Given the description of an element on the screen output the (x, y) to click on. 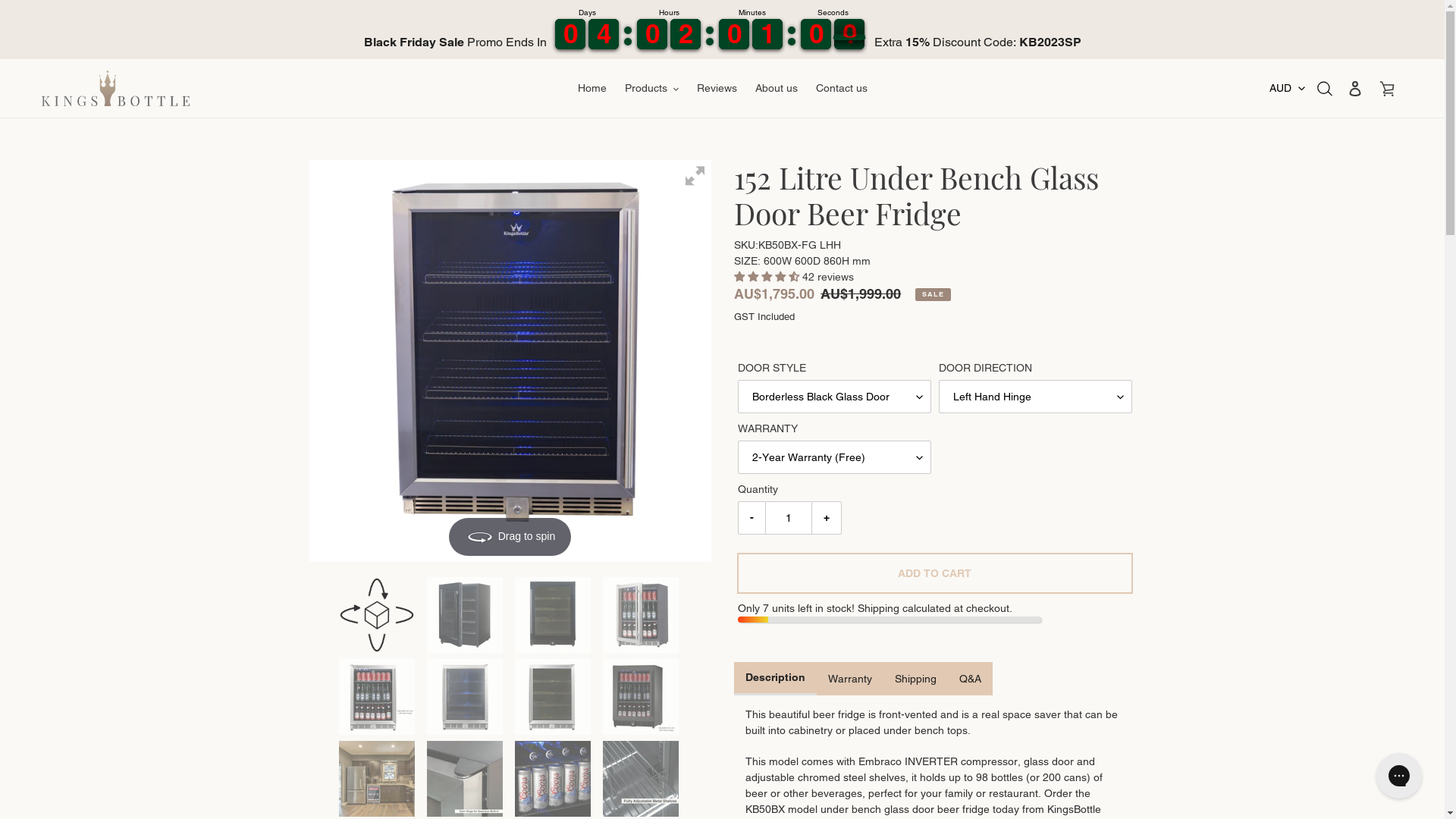
About us Element type: text (776, 88)
9
9 Element type: text (733, 33)
1
1 Element type: text (685, 33)
9
9 Element type: text (570, 33)
Home Element type: text (592, 88)
3
3 Element type: text (603, 33)
Log in Element type: text (1355, 87)
2 Element type: text (767, 33)
Gorgias live chat messenger Element type: hover (1398, 775)
Contact us Element type: text (841, 88)
4 Element type: text (849, 33)
Products Element type: text (651, 88)
Drag to spin Element type: text (510, 360)
ADD TO CART Element type: text (934, 573)
1 Element type: text (815, 33)
Search Element type: text (1325, 88)
9
9 Element type: text (652, 33)
Cart Element type: text (1386, 87)
Reviews Element type: text (715, 88)
